Given the description of an element on the screen output the (x, y) to click on. 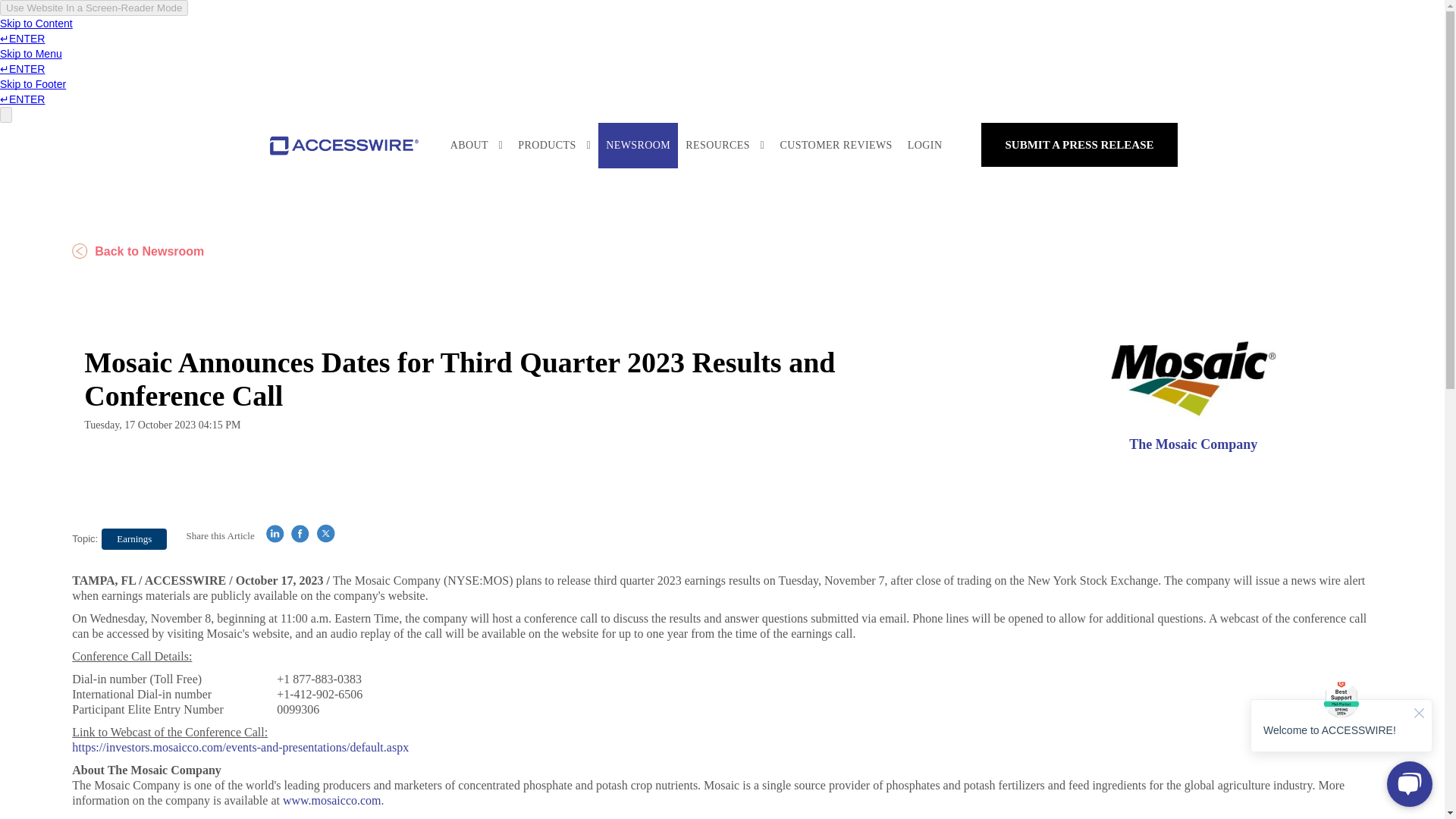
CUSTOMER REVIEWS (835, 145)
Earnings (134, 537)
www.mosaicco.com (331, 799)
Back to Newsroom (137, 250)
NEWSROOM (638, 145)
LOGIN (924, 145)
SUBMIT A PRESS RELEASE (1079, 144)
RESOURCES (724, 145)
PRODUCTS (554, 145)
ABOUT (476, 145)
